Given the description of an element on the screen output the (x, y) to click on. 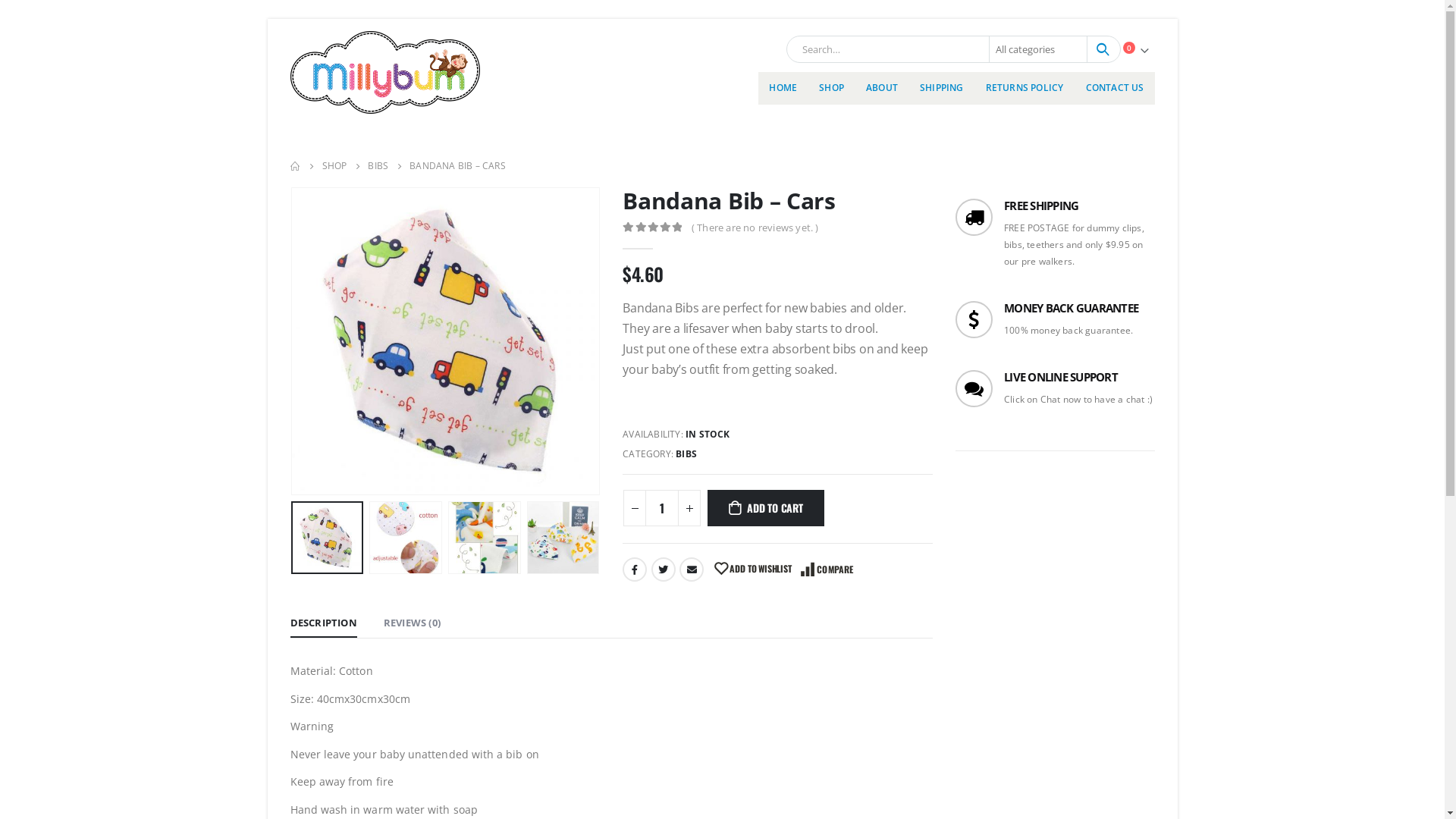
SHIPPING Element type: text (941, 88)
SHOP Element type: text (831, 88)
ADD TO CART Element type: text (765, 507)
Search Element type: hover (1102, 49)
CONTACT US Element type: text (1114, 88)
( There are no reviews yet. ) Element type: text (758, 226)
Bandana Bib Cars Element type: hover (445, 341)
Twitter Element type: text (663, 569)
ABOUT Element type: text (881, 88)
COMPARE Element type: text (826, 569)
ADD TO WISHLIST Element type: text (752, 569)
SHOP Element type: text (333, 165)
Facebook Element type: text (634, 569)
Email Element type: text (691, 569)
+ Element type: text (688, 507)
BIBS Element type: text (377, 165)
Qty Element type: hover (661, 507)
HOME Element type: text (782, 88)
RETURNS POLICY Element type: text (1024, 88)
BIBS Element type: text (685, 453)
MillyBum - Baby & Kids Store Element type: hover (384, 72)
- Element type: text (634, 507)
Go to Home Page Element type: hover (294, 165)
